Given the description of an element on the screen output the (x, y) to click on. 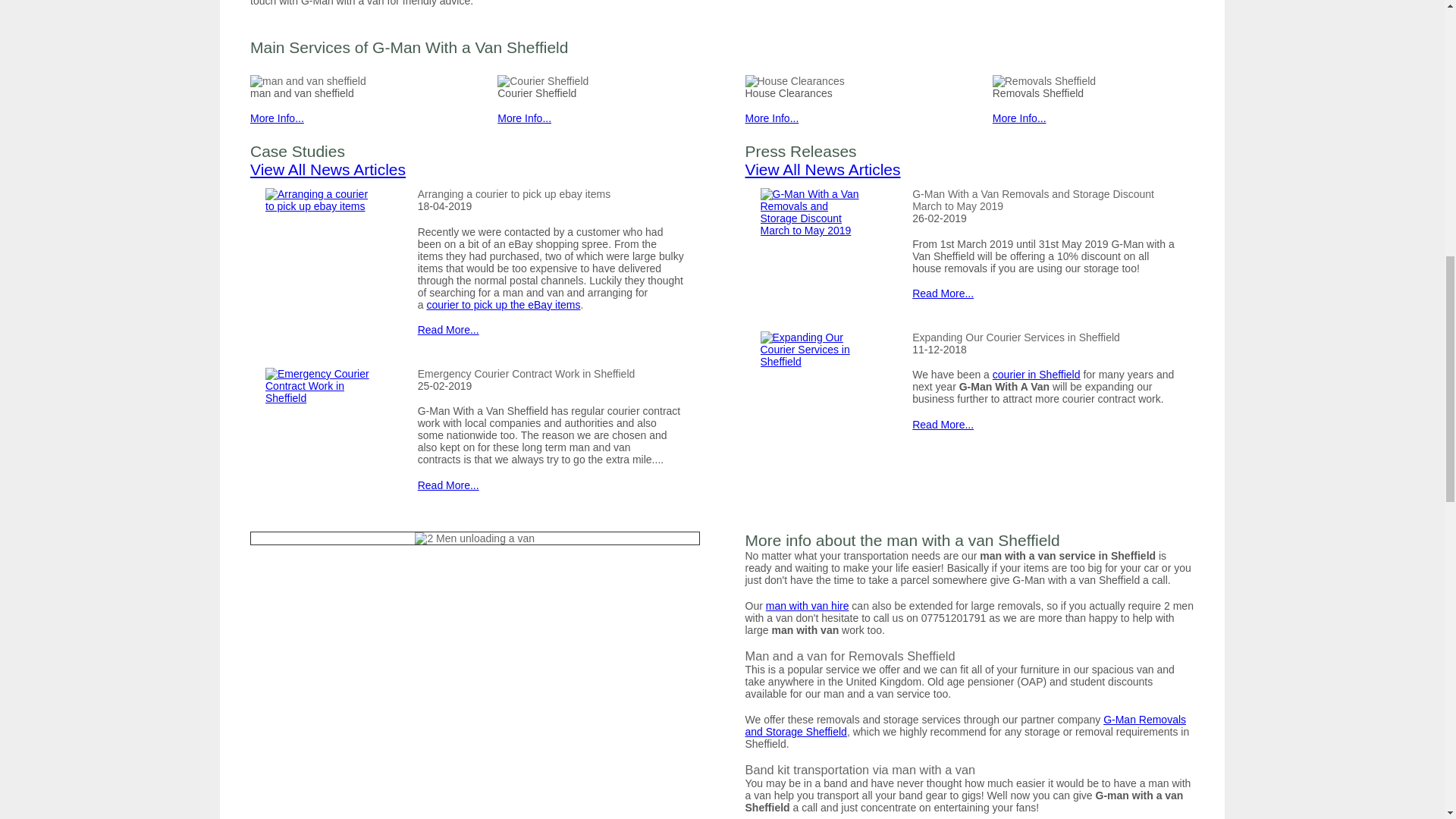
View All News Articles (821, 169)
Read More... (448, 485)
More Info... (277, 118)
View All News Articles (328, 169)
More Info... (1019, 118)
More Info... (524, 118)
Read More... (448, 329)
More Info... (770, 118)
courier to pick up the eBay items (502, 304)
